Given the description of an element on the screen output the (x, y) to click on. 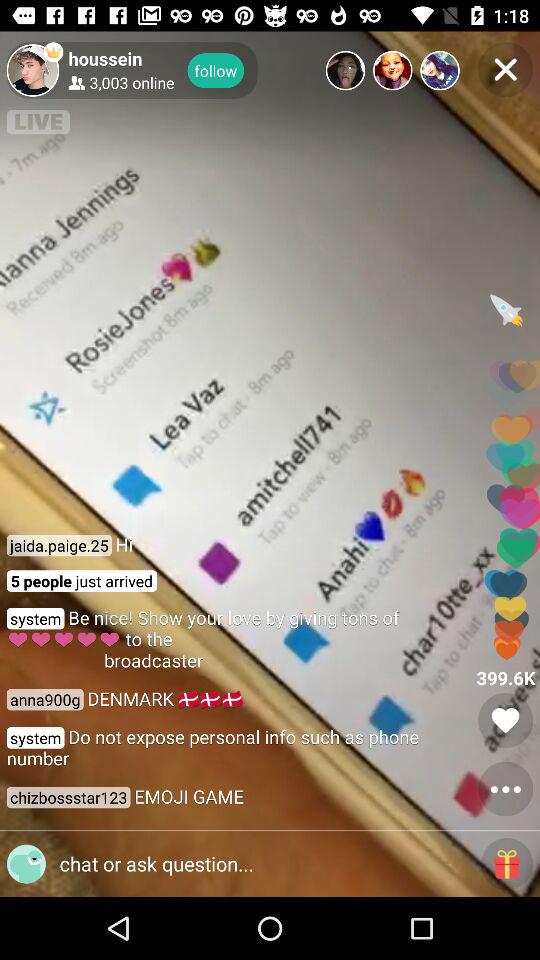
click on the close button of the page (504, 69)
